Given the description of an element on the screen output the (x, y) to click on. 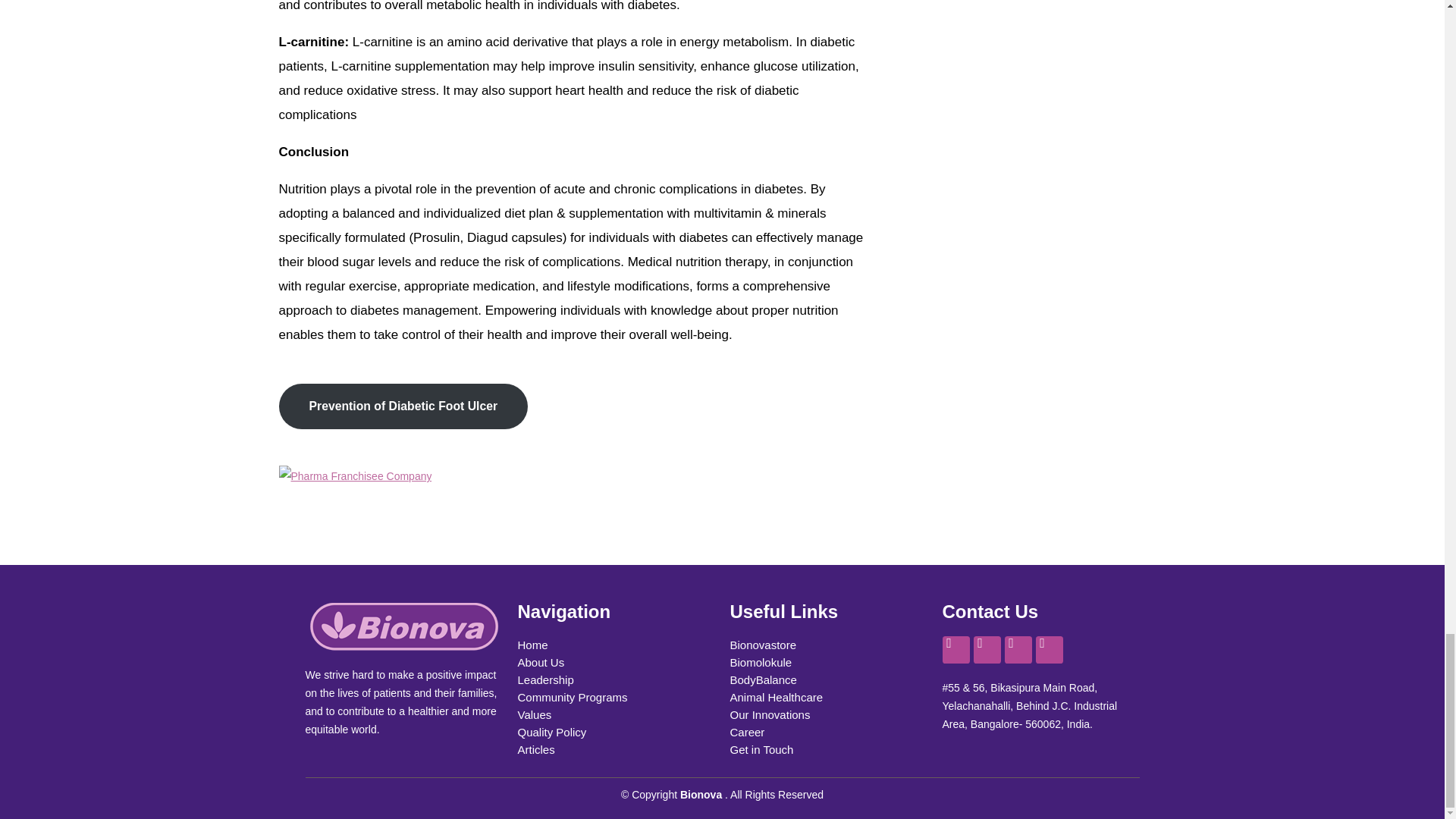
Articles (615, 749)
About Us (615, 661)
Values (615, 714)
Prevention of Diabetic Foot Ulcer (403, 406)
Home (615, 644)
Community Programs (615, 696)
Quality Policy (615, 732)
Leadership (615, 679)
